Given the description of an element on the screen output the (x, y) to click on. 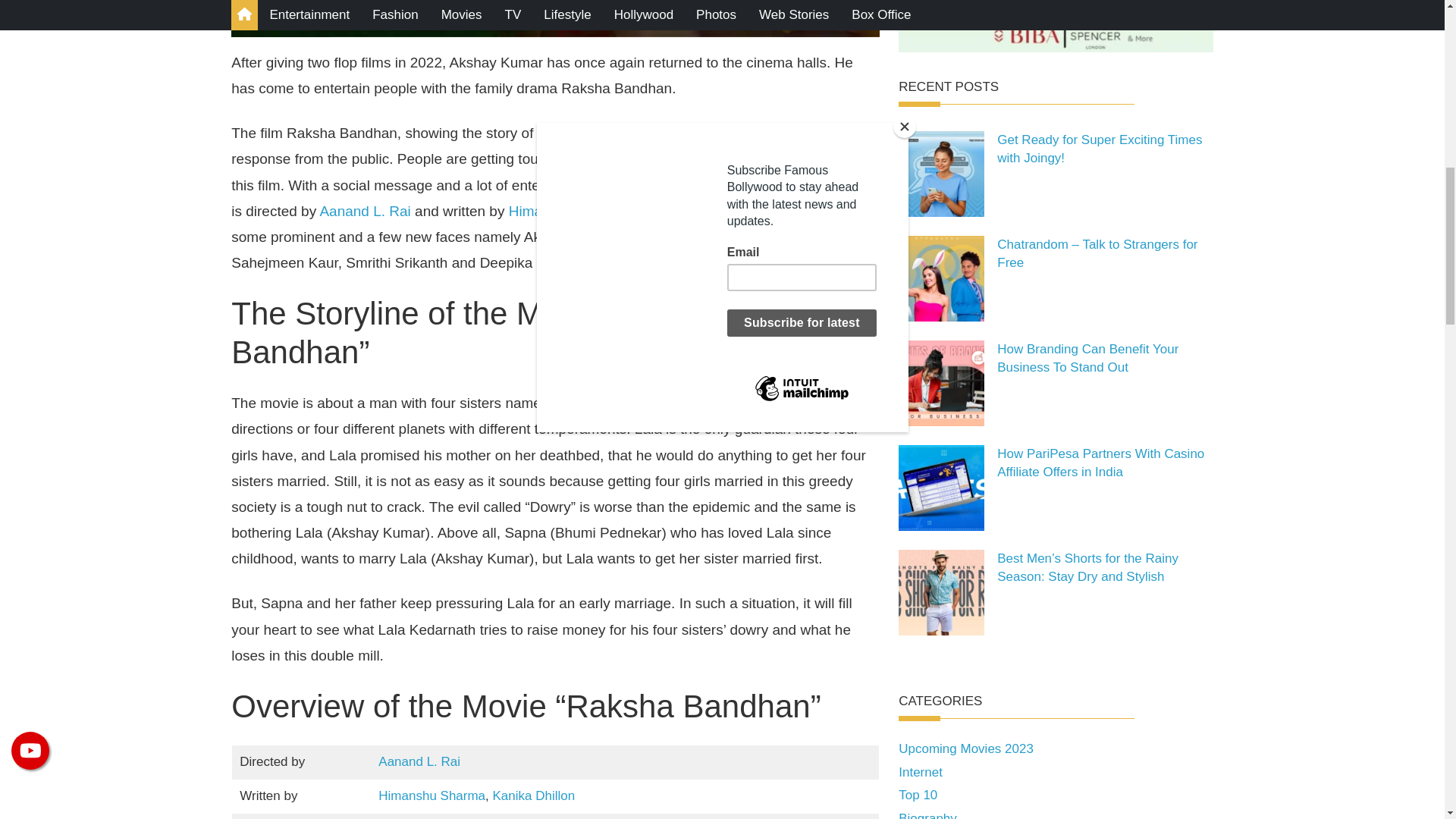
Kanika Dhillon (705, 211)
Himanshu Sharma (431, 795)
Kanika Dhillon (534, 795)
Aanand L. Rai (364, 211)
Himanshu Sharma (567, 211)
Aanand L. Rai (419, 761)
